Given the description of an element on the screen output the (x, y) to click on. 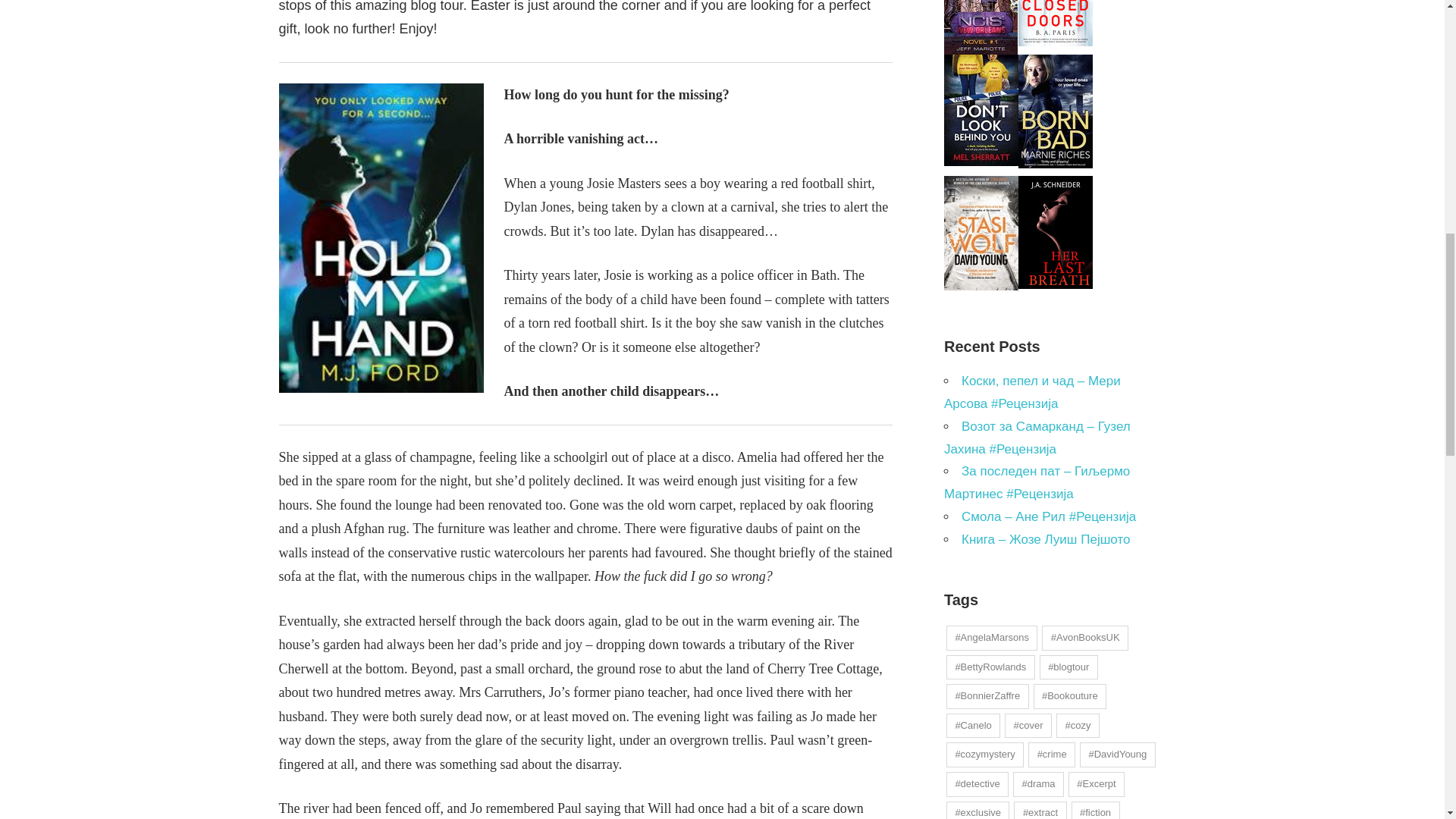
Born Bad (1055, 164)
NCIS New Orleans: Crossroads (980, 50)
Behind Closed Doors (1055, 42)
